Given the description of an element on the screen output the (x, y) to click on. 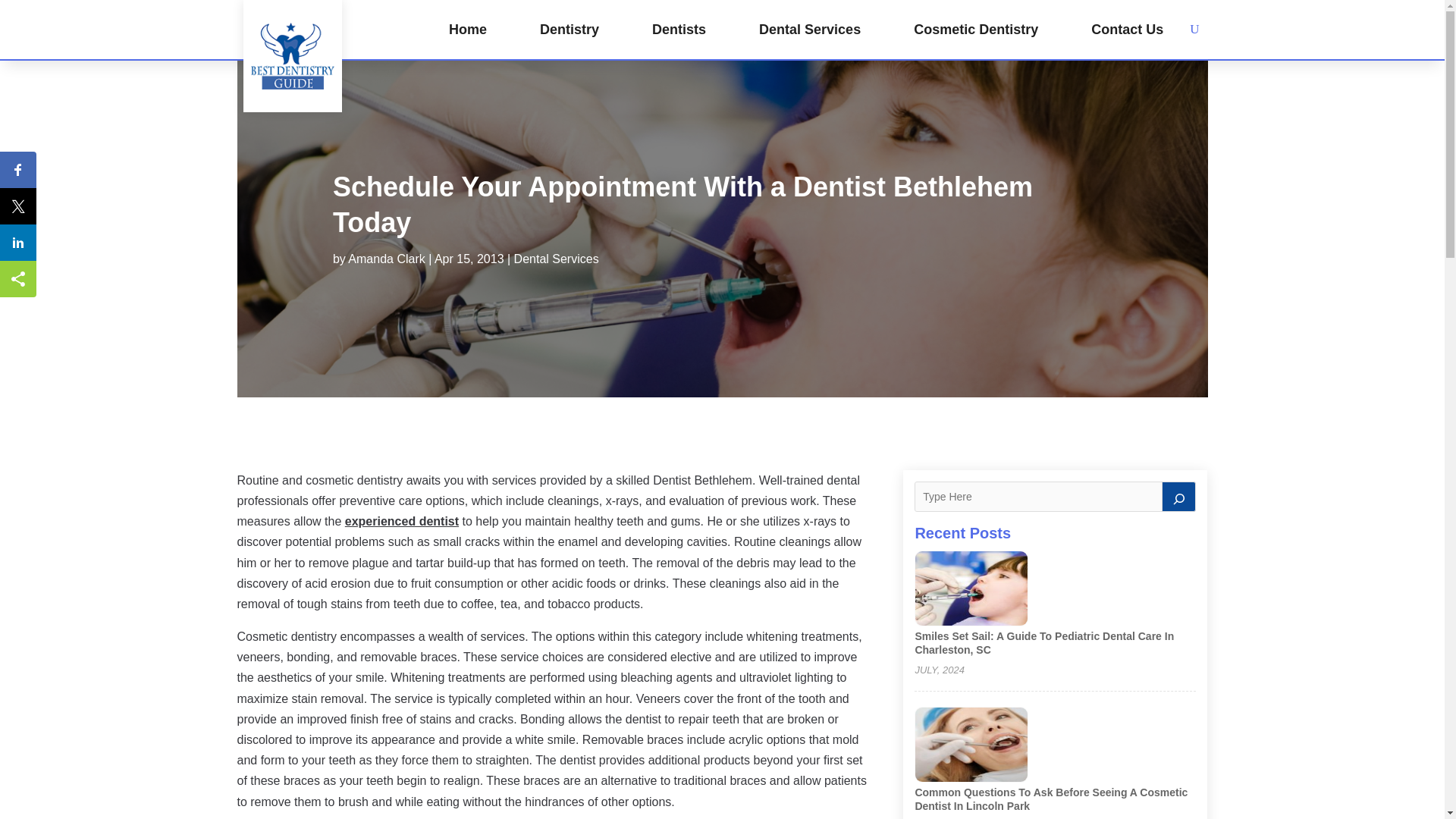
Dental Services (555, 258)
Cosmetic Dentistry (976, 29)
Dental Services (809, 29)
Dentists (679, 29)
Contact Us (1126, 29)
Amanda Clark (386, 258)
Posts by Amanda Clark (386, 258)
Dentistry (569, 29)
